Given the description of an element on the screen output the (x, y) to click on. 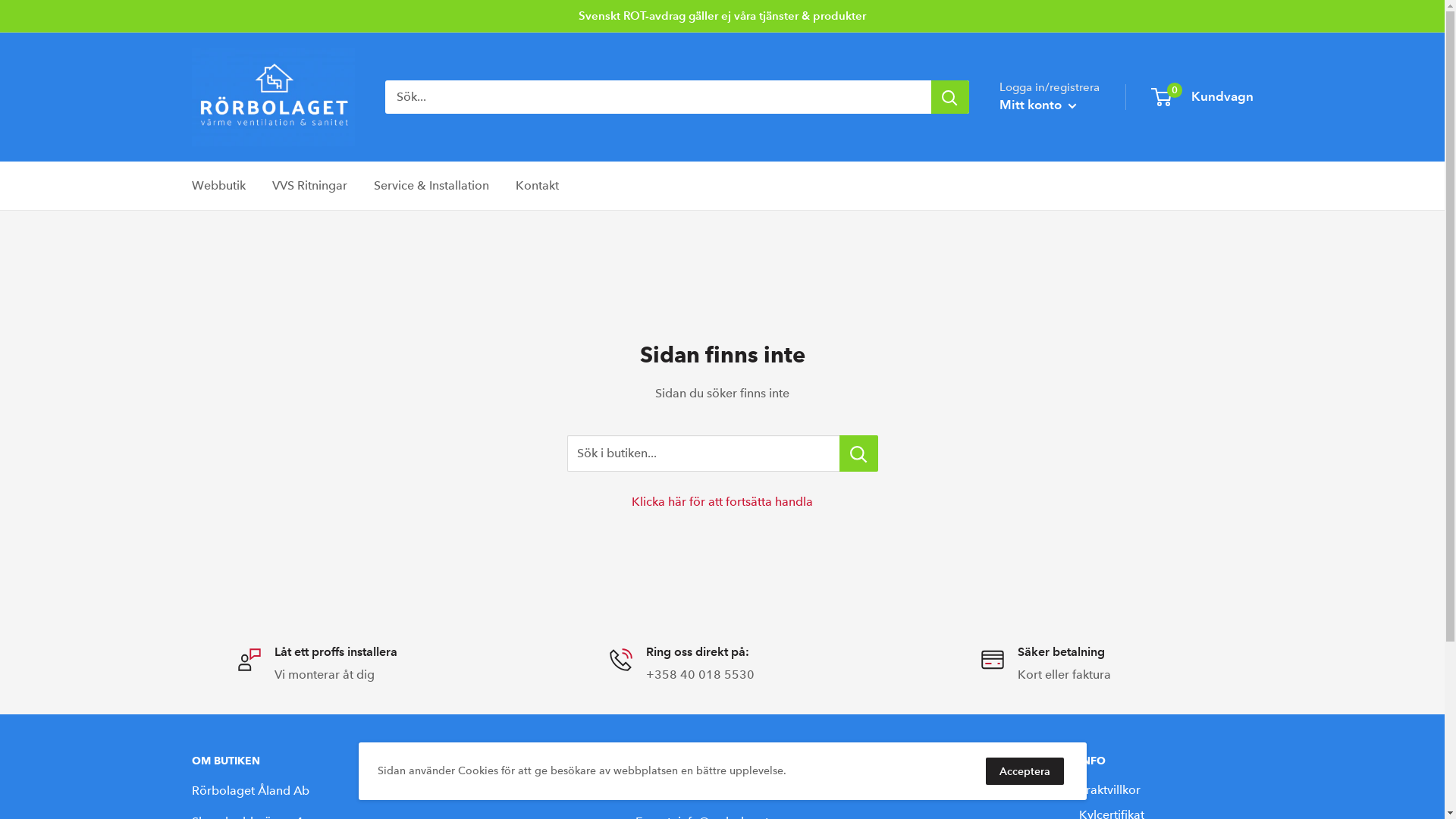
Fraktvillkor Element type: text (1165, 790)
Service & Installation Element type: text (430, 185)
INFO Element type: text (1165, 761)
Webbutik Element type: text (217, 185)
Kontakt Element type: text (536, 185)
VVS Ritningar Element type: text (308, 185)
0
Kundvagn Element type: text (1202, 96)
OM BUTIKEN Element type: text (386, 761)
Acceptera Element type: text (1024, 770)
Mitt konto Element type: text (1037, 105)
KONTAKT Element type: text (830, 761)
